Given the description of an element on the screen output the (x, y) to click on. 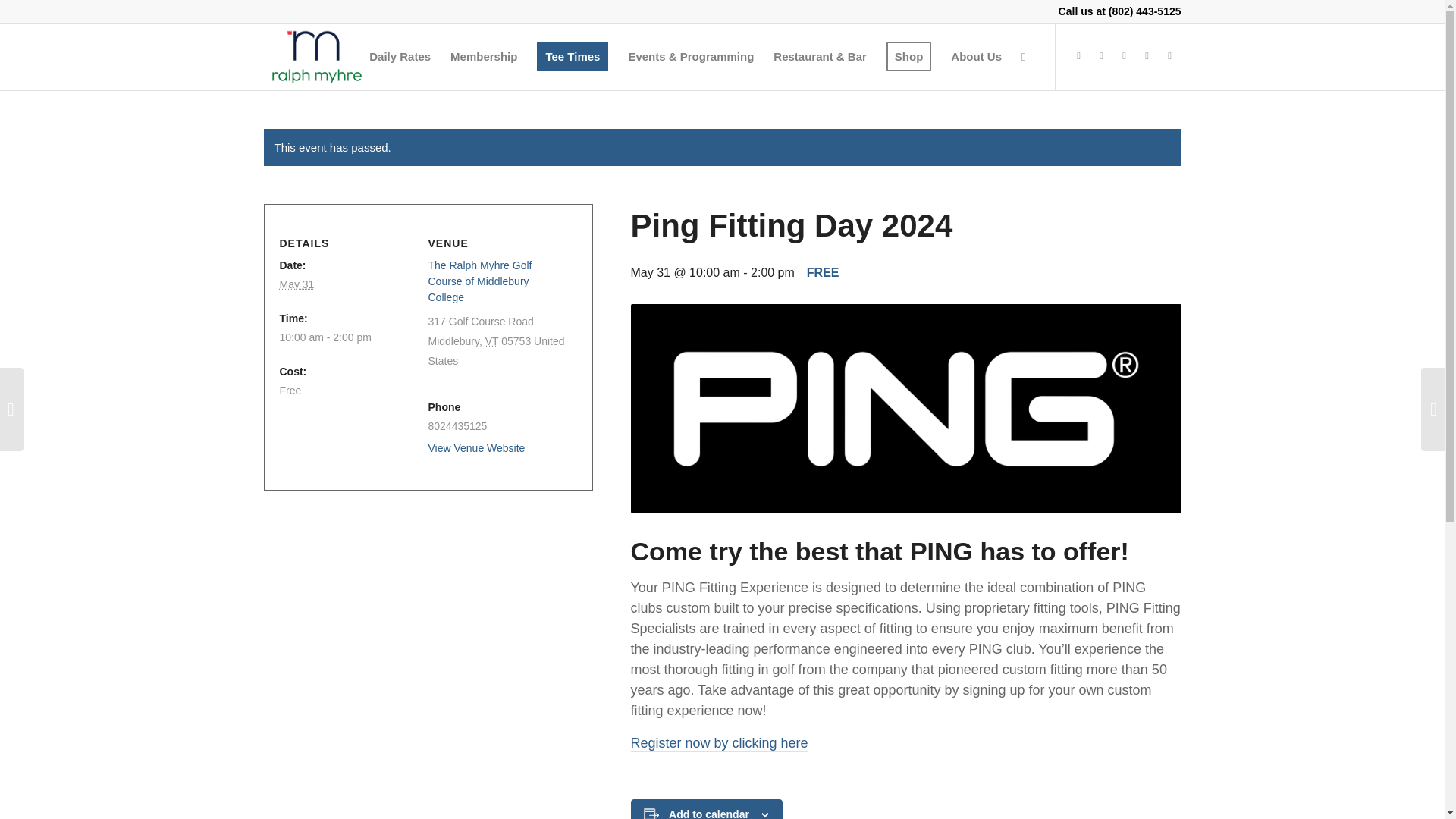
About Us (975, 56)
Rss (1169, 56)
View Venue Website (476, 448)
Tee Times (572, 56)
Daily Rates (400, 56)
Vermont (491, 340)
2024-05-31 (346, 337)
2024-05-31 (296, 284)
Register now by clicking here (719, 743)
Twitter (1101, 56)
Facebook (1078, 56)
Membership (484, 56)
The Ralph Myhre Golf Course of Middlebury College (479, 281)
Youtube (1124, 56)
Shop (909, 56)
